Given the description of an element on the screen output the (x, y) to click on. 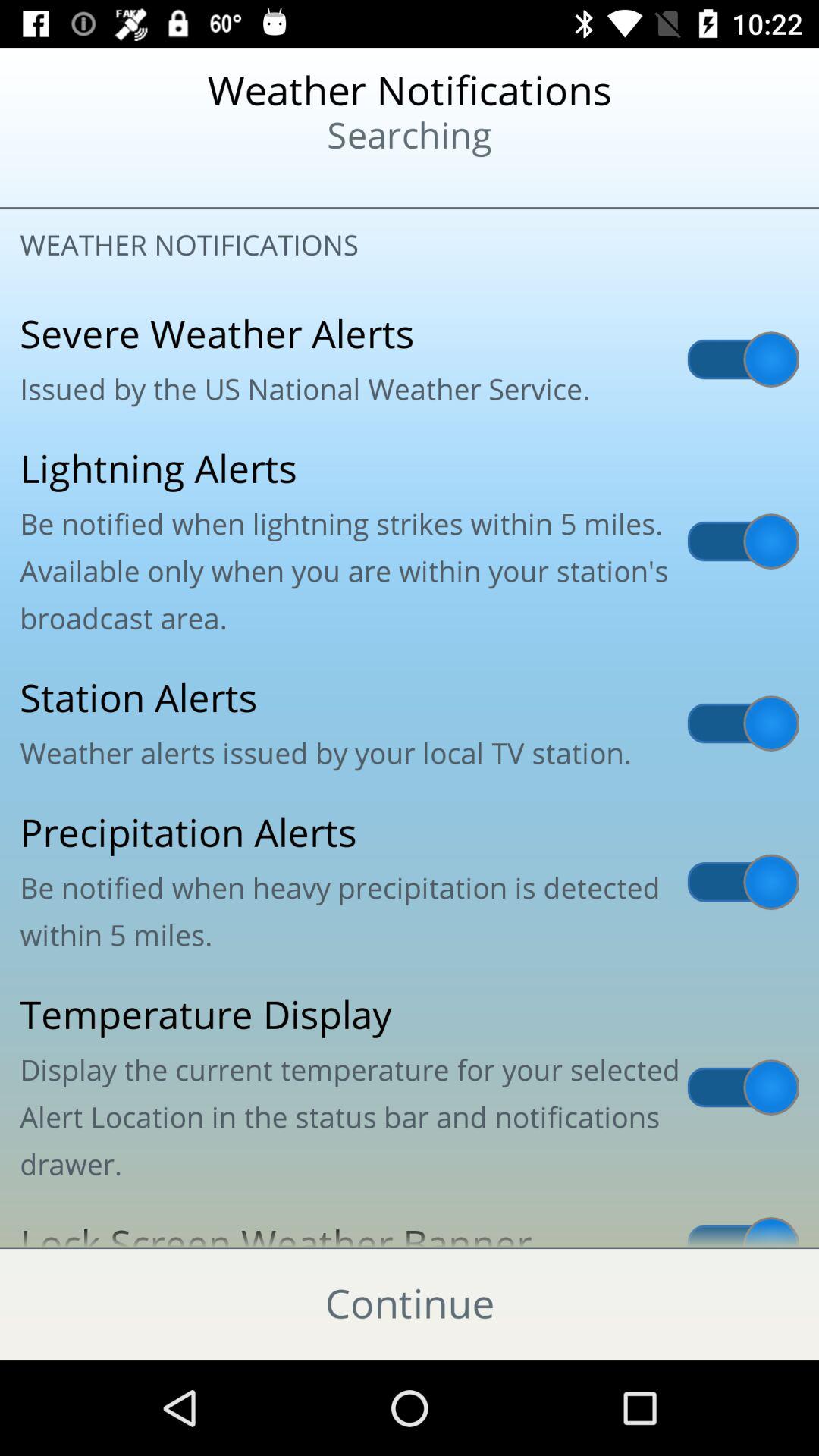
select item below the temperature display display item (409, 1224)
